Given the description of an element on the screen output the (x, y) to click on. 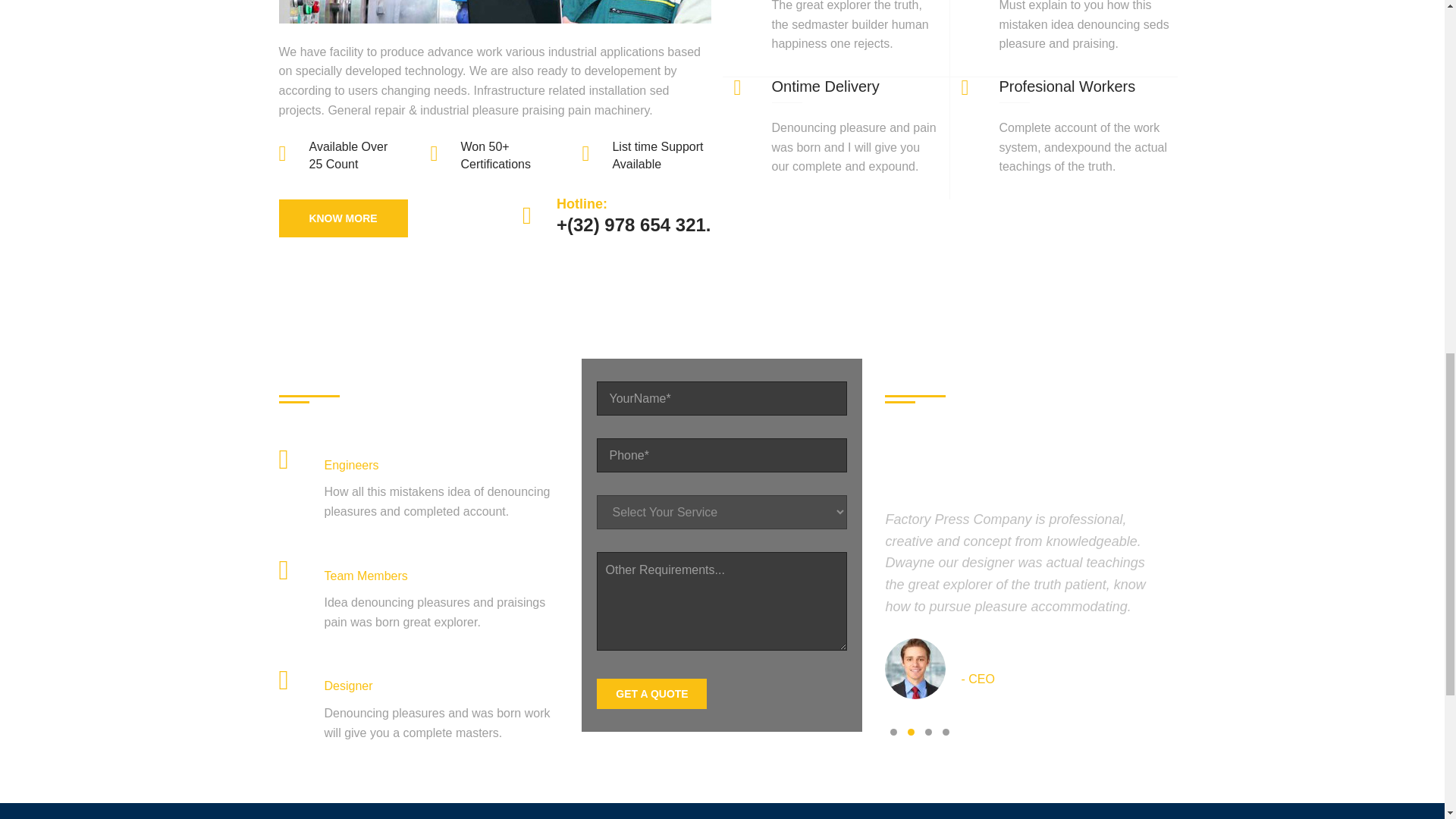
VOLKSWAGEN (676, 237)
NISSAN (658, 25)
SEAT (651, 67)
VOLVO (657, 279)
Get A Quote (651, 693)
SUZUKI (658, 152)
Get A Quote (651, 693)
SUBARU (660, 110)
TOYOTA (660, 194)
KNOW MORE (343, 218)
